Given the description of an element on the screen output the (x, y) to click on. 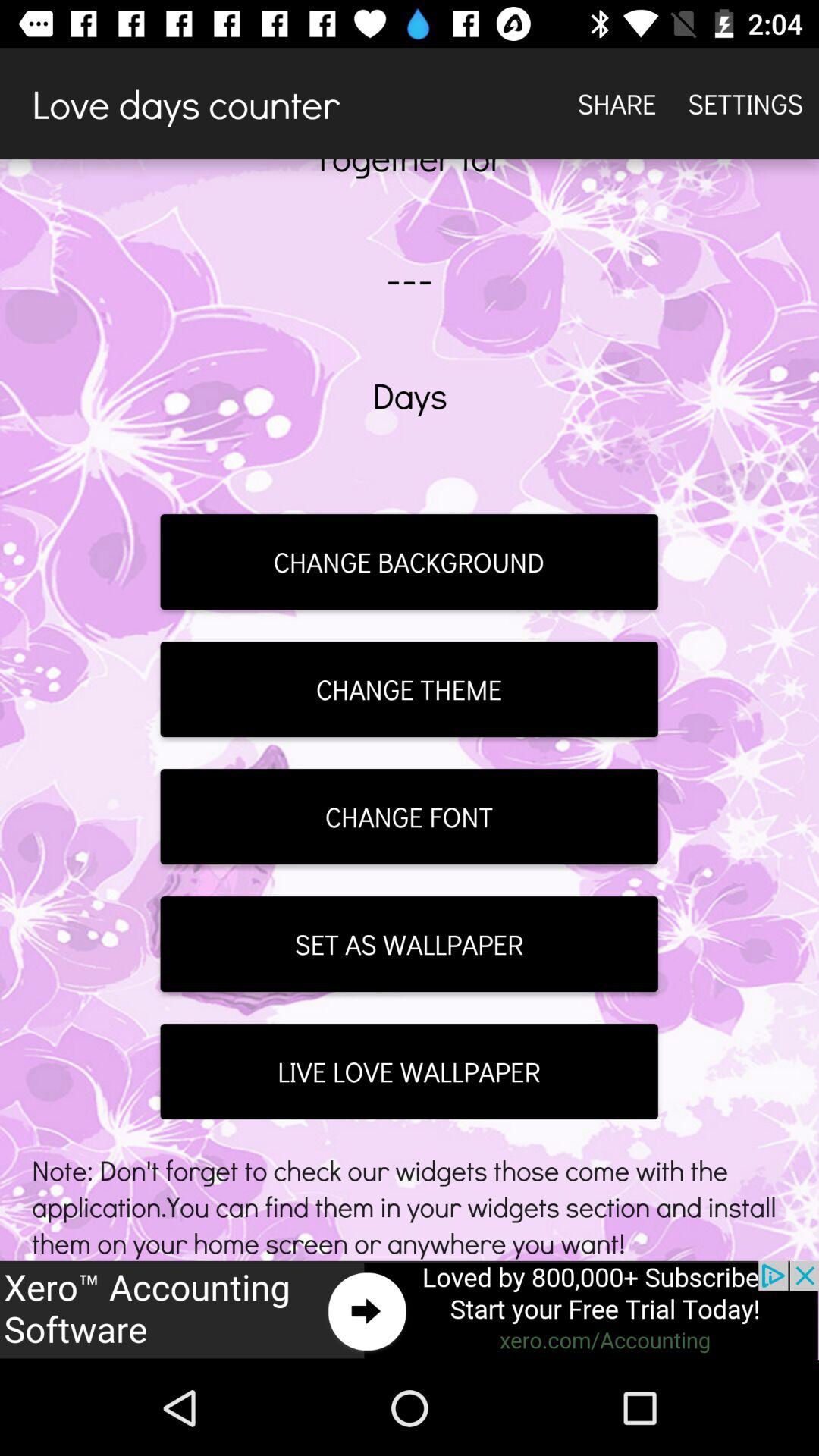
advertisement button (409, 1310)
